Given the description of an element on the screen output the (x, y) to click on. 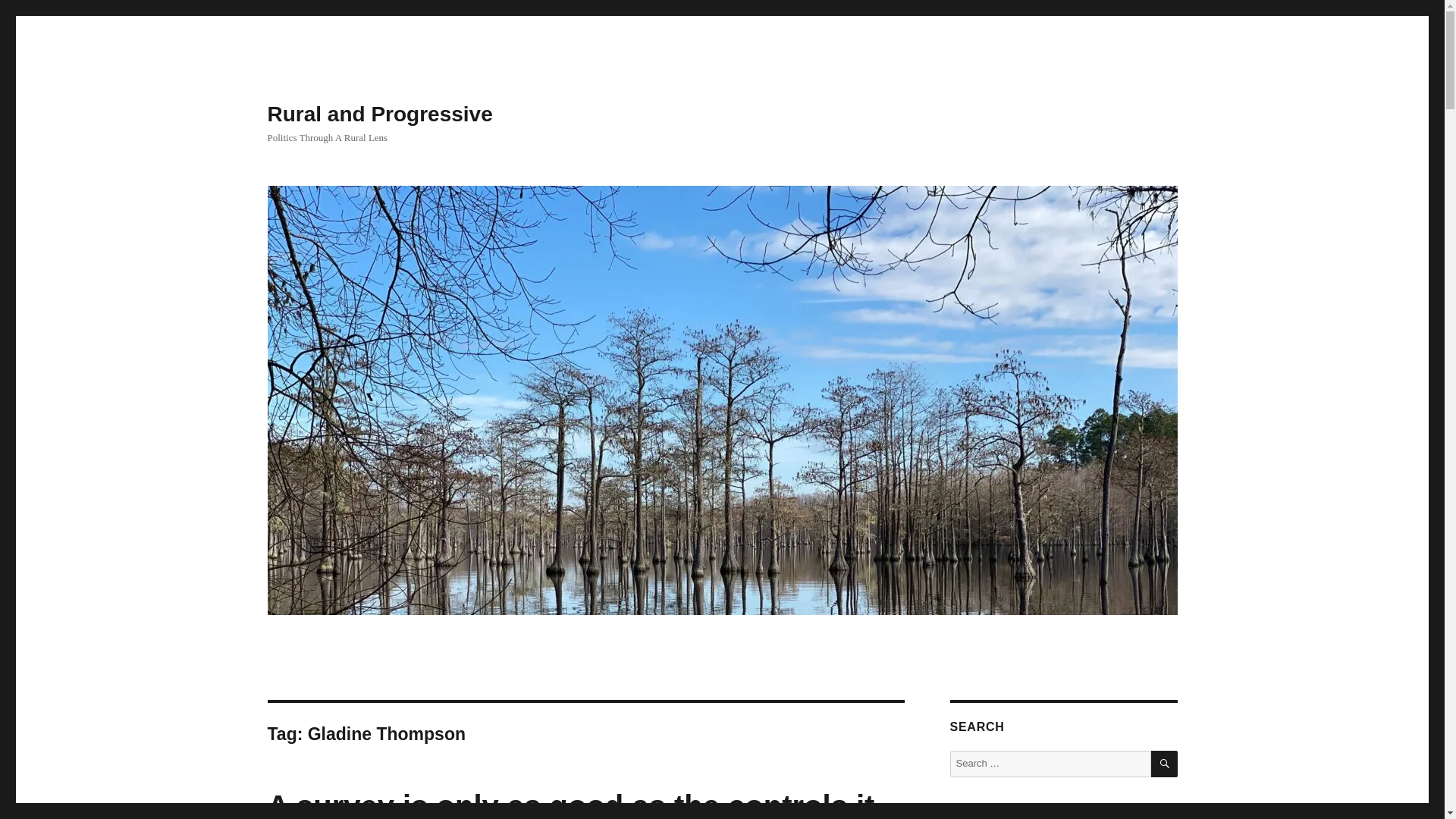
Rural and Progressive (379, 114)
A survey is only as good as the controls it sets (570, 804)
